Given the description of an element on the screen output the (x, y) to click on. 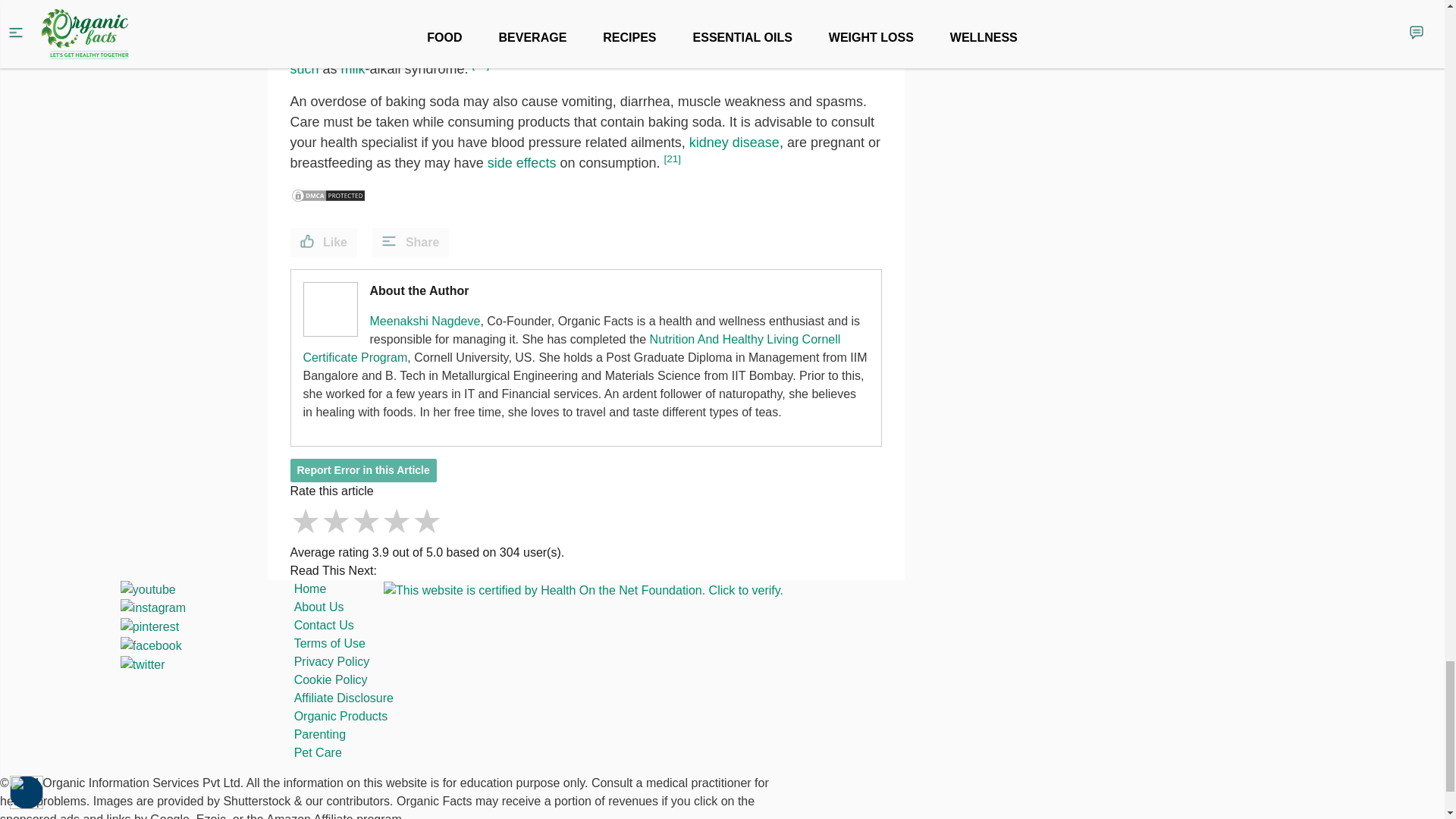
Affiliate Disclosure (343, 697)
Parenting (320, 734)
DMCA.com Protection Status (327, 194)
Pet Care (318, 752)
About Us (318, 606)
Terms of Use (329, 643)
Cookie Policy (331, 679)
Privacy Policy (331, 661)
Contact Us (323, 625)
Organic Products (341, 716)
Home (310, 588)
